Given the description of an element on the screen output the (x, y) to click on. 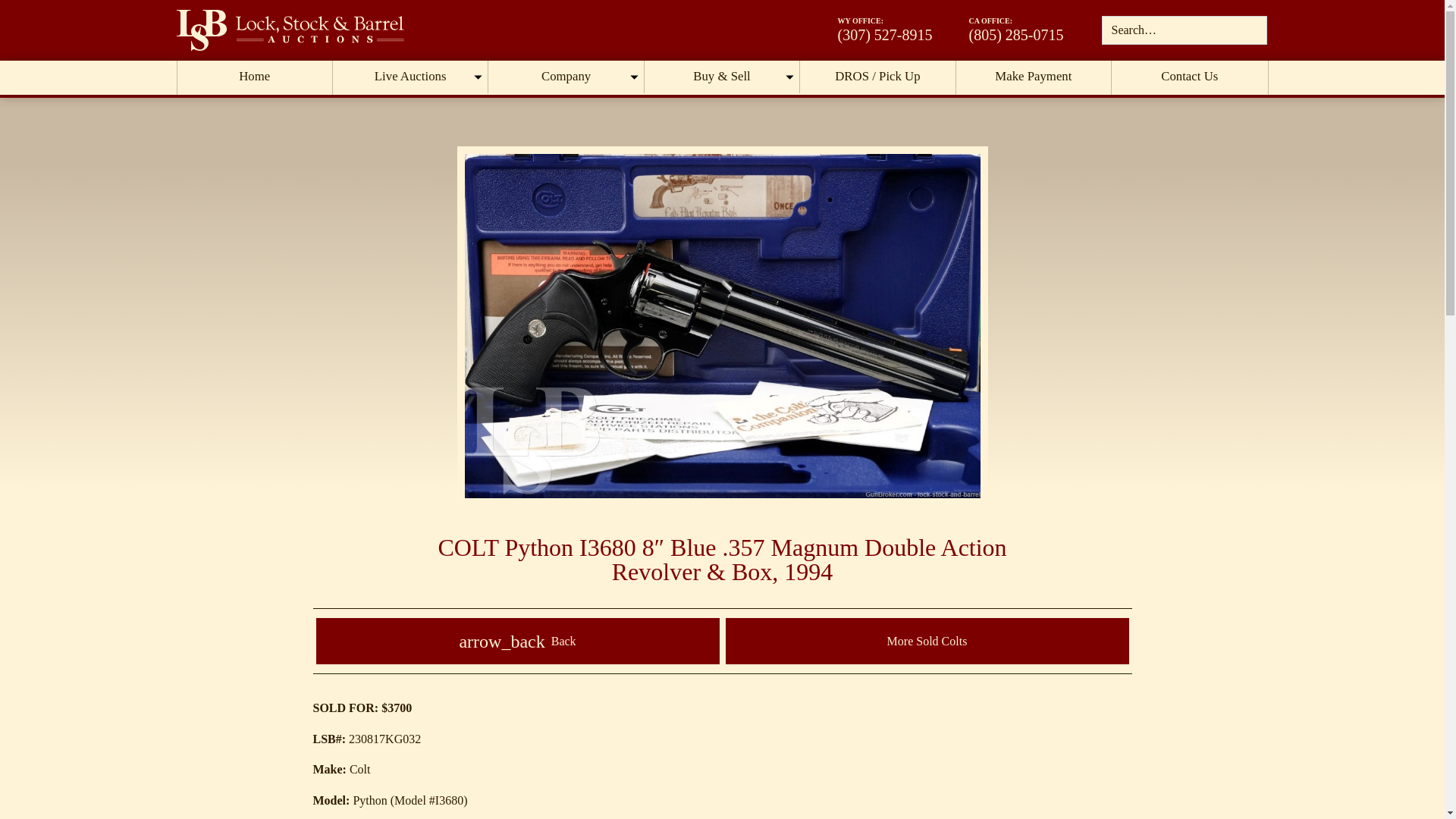
Contact Us (1189, 77)
Company (565, 76)
More Sold Colts (926, 641)
Home (255, 77)
Make Payment (1034, 77)
Live Auctions (410, 76)
